Given the description of an element on the screen output the (x, y) to click on. 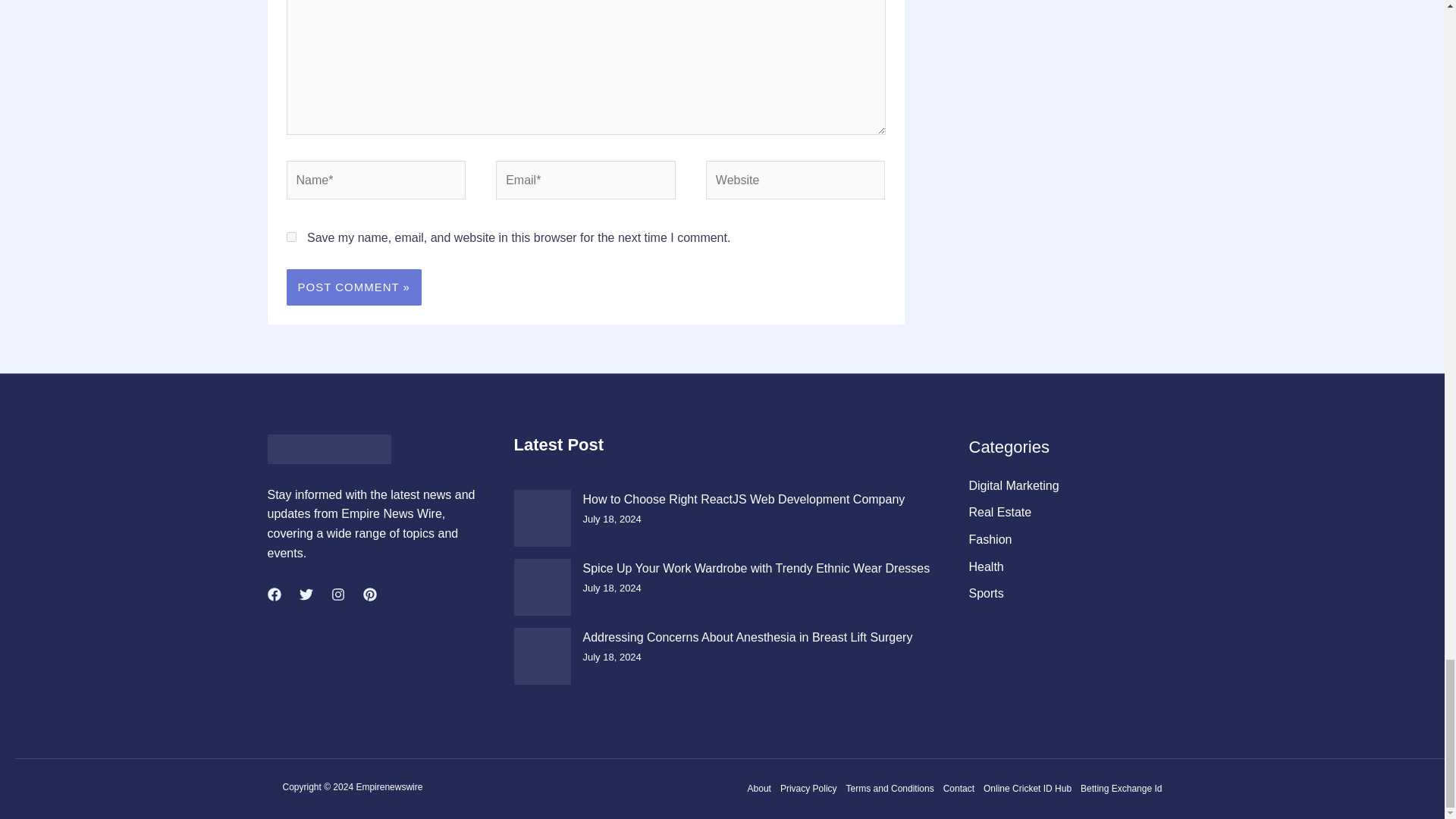
yes (291, 236)
